Given the description of an element on the screen output the (x, y) to click on. 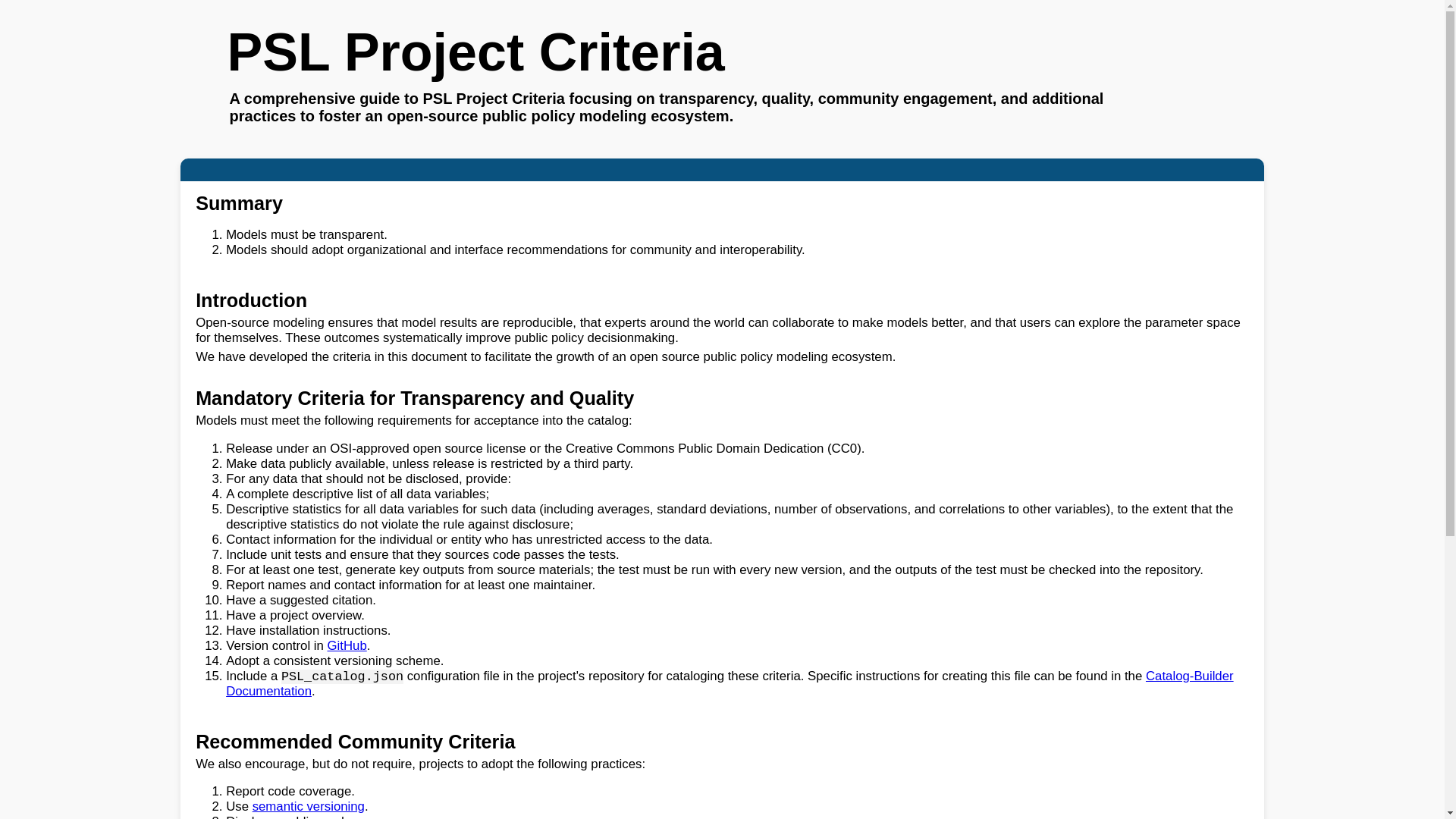
GitHub (346, 645)
Catalog-Builder Documentation (729, 683)
semantic versioning (308, 806)
